Given the description of an element on the screen output the (x, y) to click on. 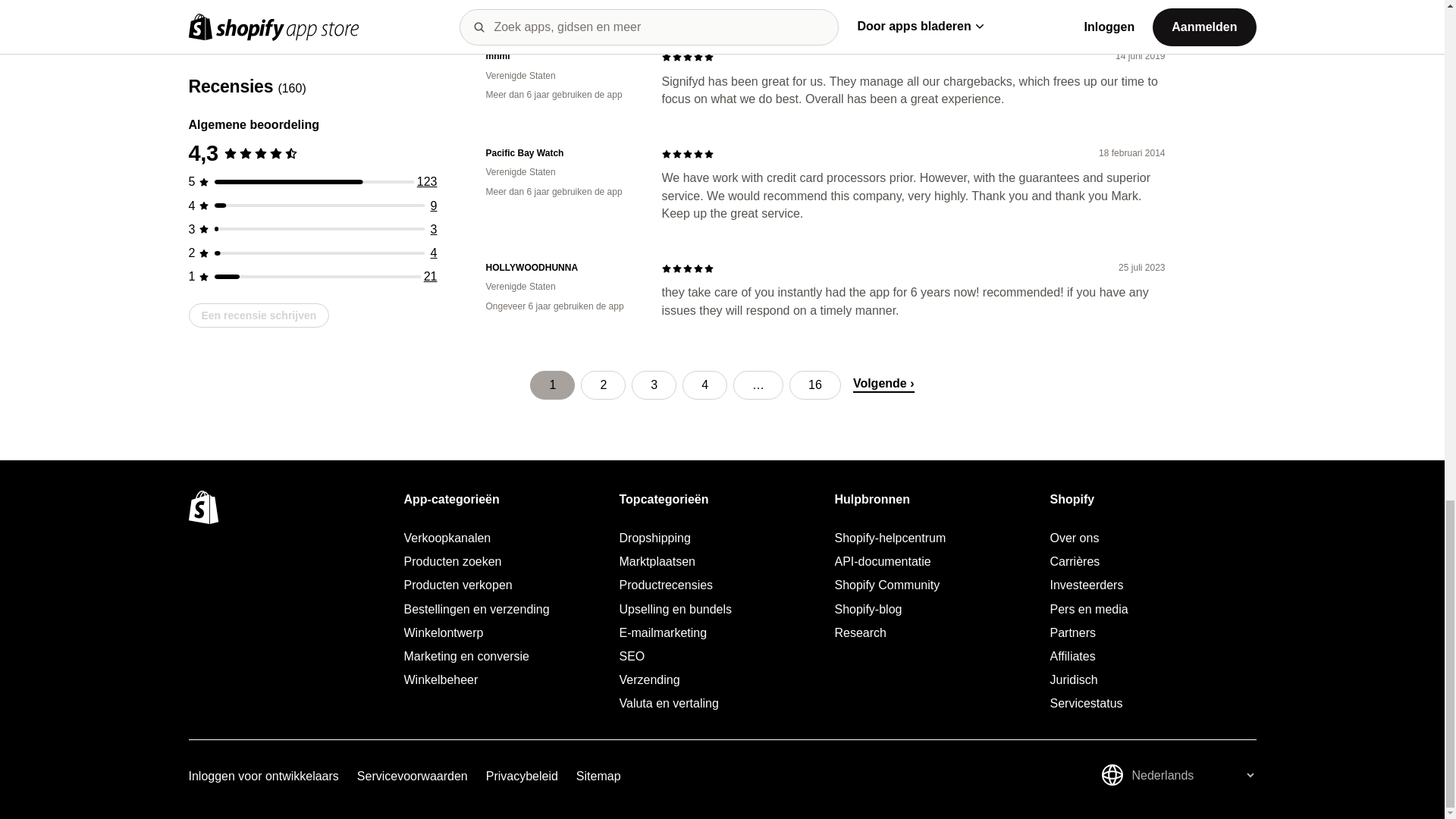
Pacific Bay Watch (560, 153)
mnml (560, 56)
HOLLYWOODHUNNA (560, 267)
